Given the description of an element on the screen output the (x, y) to click on. 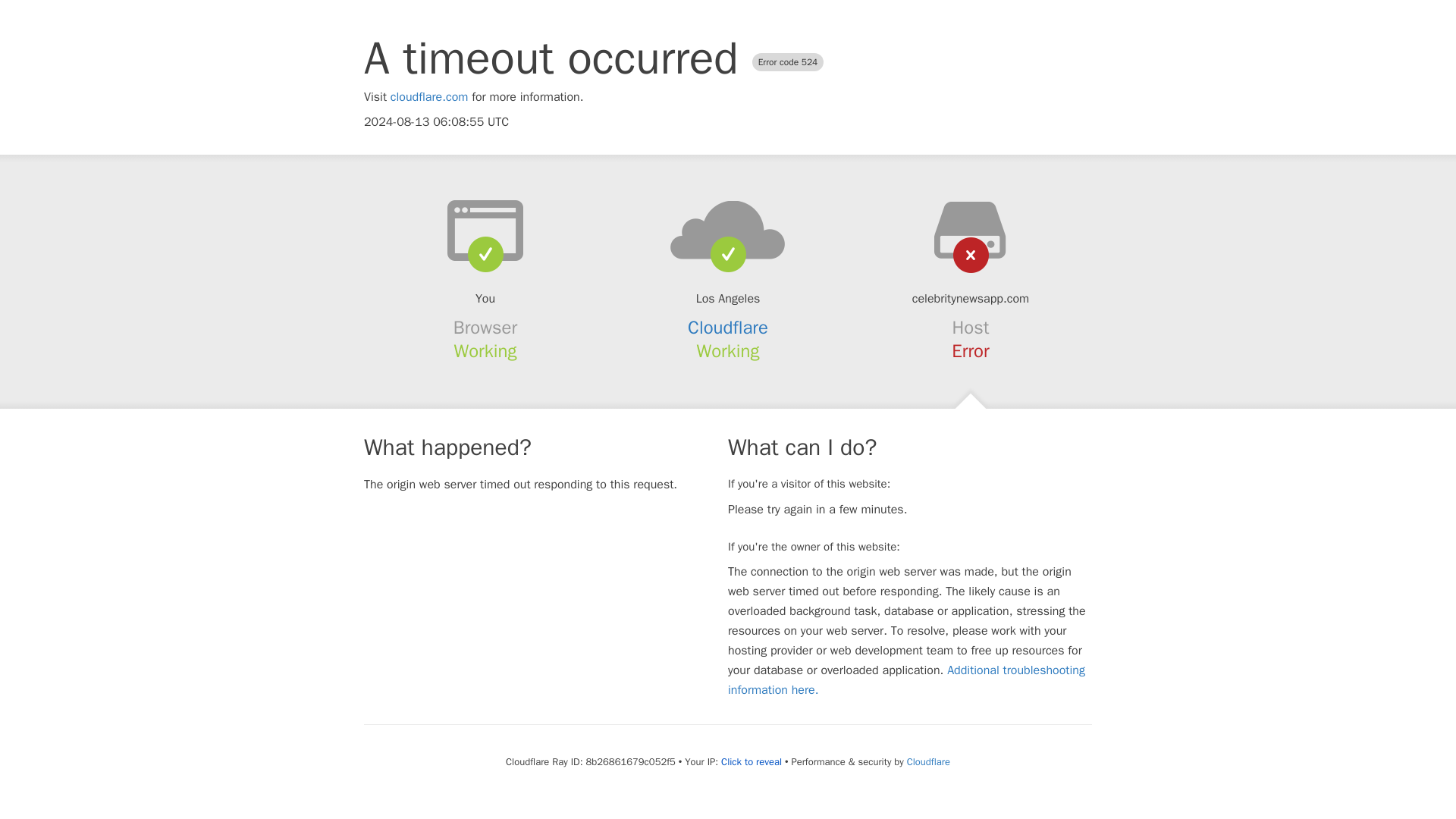
Click to reveal (750, 762)
Cloudflare (727, 327)
cloudflare.com (429, 96)
Cloudflare (928, 761)
Additional troubleshooting information here. (906, 679)
